Given the description of an element on the screen output the (x, y) to click on. 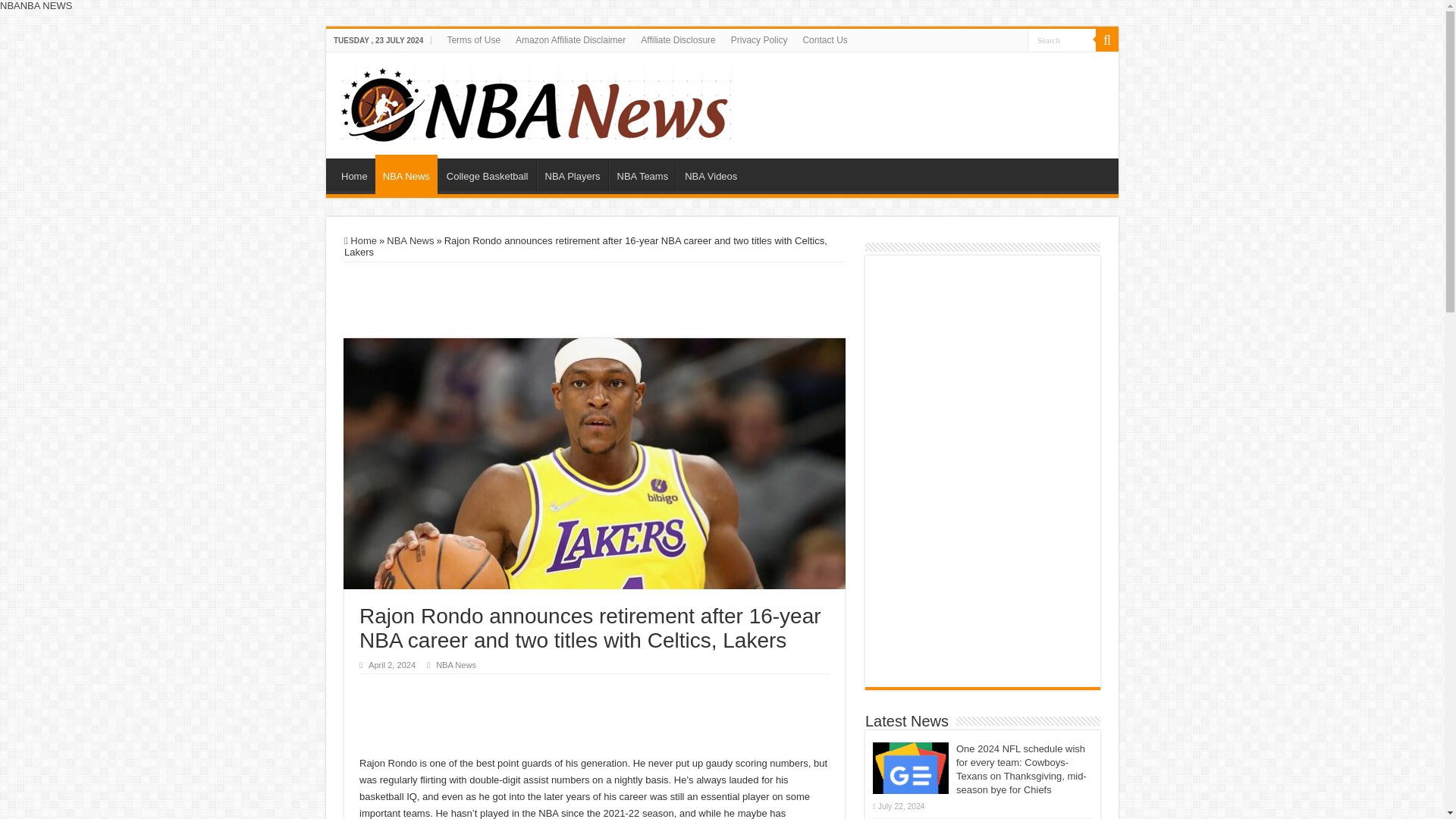
Advertisement (635, 715)
NBA News (406, 174)
NBA News (534, 102)
Search (1061, 39)
Search (1061, 39)
Amazon Affiliate Disclaimer (570, 39)
Advertisement (929, 90)
NBA News (455, 664)
NBA NEWS (46, 5)
Affiliate Disclosure (677, 39)
Home (354, 174)
NBA News (410, 240)
Terms of Use (473, 39)
Advertisement (593, 299)
Advertisement (986, 582)
